Given the description of an element on the screen output the (x, y) to click on. 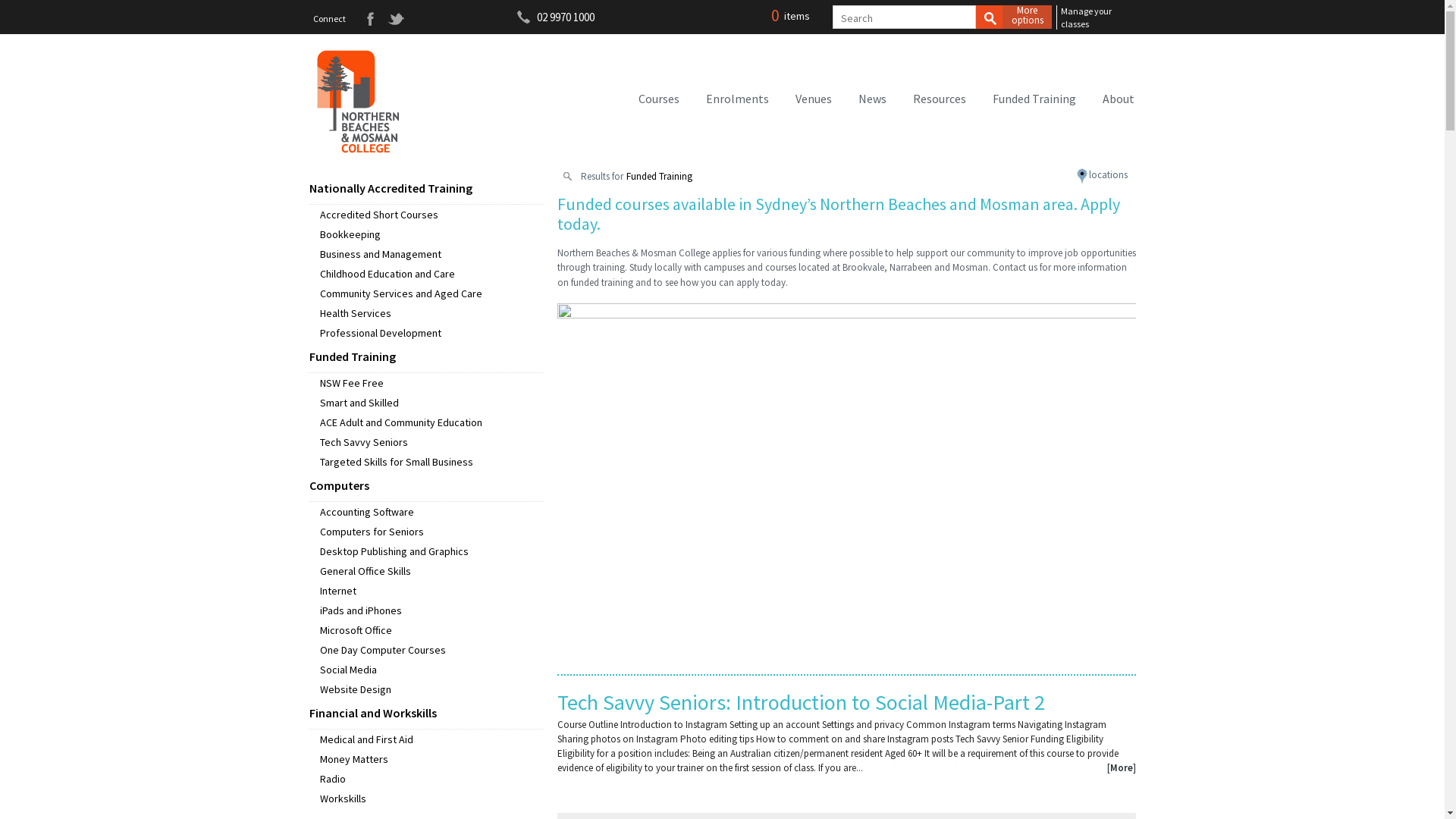
Desktop Publishing and Graphics Element type: text (431, 551)
locations Element type: text (1102, 174)
One Day Computer Courses Element type: text (431, 649)
Tech Savvy Seniors Element type: text (431, 441)
Childhood Education and Care Element type: text (431, 273)
Health Services Element type: text (431, 313)
Search Element type: text (988, 16)
Business and Management Element type: text (431, 253)
Community Services and Aged Care Element type: text (431, 293)
Funded Training Element type: text (1033, 98)
Microsoft Office Element type: text (431, 630)
Manage your classes Element type: text (1099, 18)
Financial and Workskills Element type: text (425, 714)
Nationally Accredited Training Element type: text (425, 189)
Internet Element type: text (431, 590)
Bookkeeping Element type: text (431, 234)
NSW Fee Free Element type: text (431, 382)
Medical and First Aid Element type: text (431, 739)
Funded Training Element type: text (425, 358)
02 9970 1000 Element type: text (565, 16)
Professional Development Element type: text (431, 332)
Tech Savvy Seniors: Introduction to Social Media-Part 2 Element type: text (800, 701)
Courses Element type: text (658, 98)
Social Media Element type: text (431, 669)
Venues Element type: text (812, 98)
Targeted Skills for Small Business Element type: text (431, 461)
Smart and Skilled Element type: text (431, 402)
General Office Skills Element type: text (431, 570)
Computers Element type: text (425, 487)
Money Matters Element type: text (431, 758)
Computers for Seniors Element type: text (431, 531)
More Element type: text (1121, 767)
Accredited Short Courses Element type: text (431, 214)
Workskills Element type: text (431, 798)
News Element type: text (872, 98)
ACE Adult and Community Education Element type: text (431, 422)
iPads and iPhones Element type: text (431, 610)
More options Element type: text (1027, 16)
Website Design Element type: text (431, 689)
About Element type: text (1118, 98)
Radio Element type: text (431, 778)
Resources Element type: text (939, 98)
Accounting Software Element type: text (431, 511)
Enrolments Element type: text (736, 98)
